Given the description of an element on the screen output the (x, y) to click on. 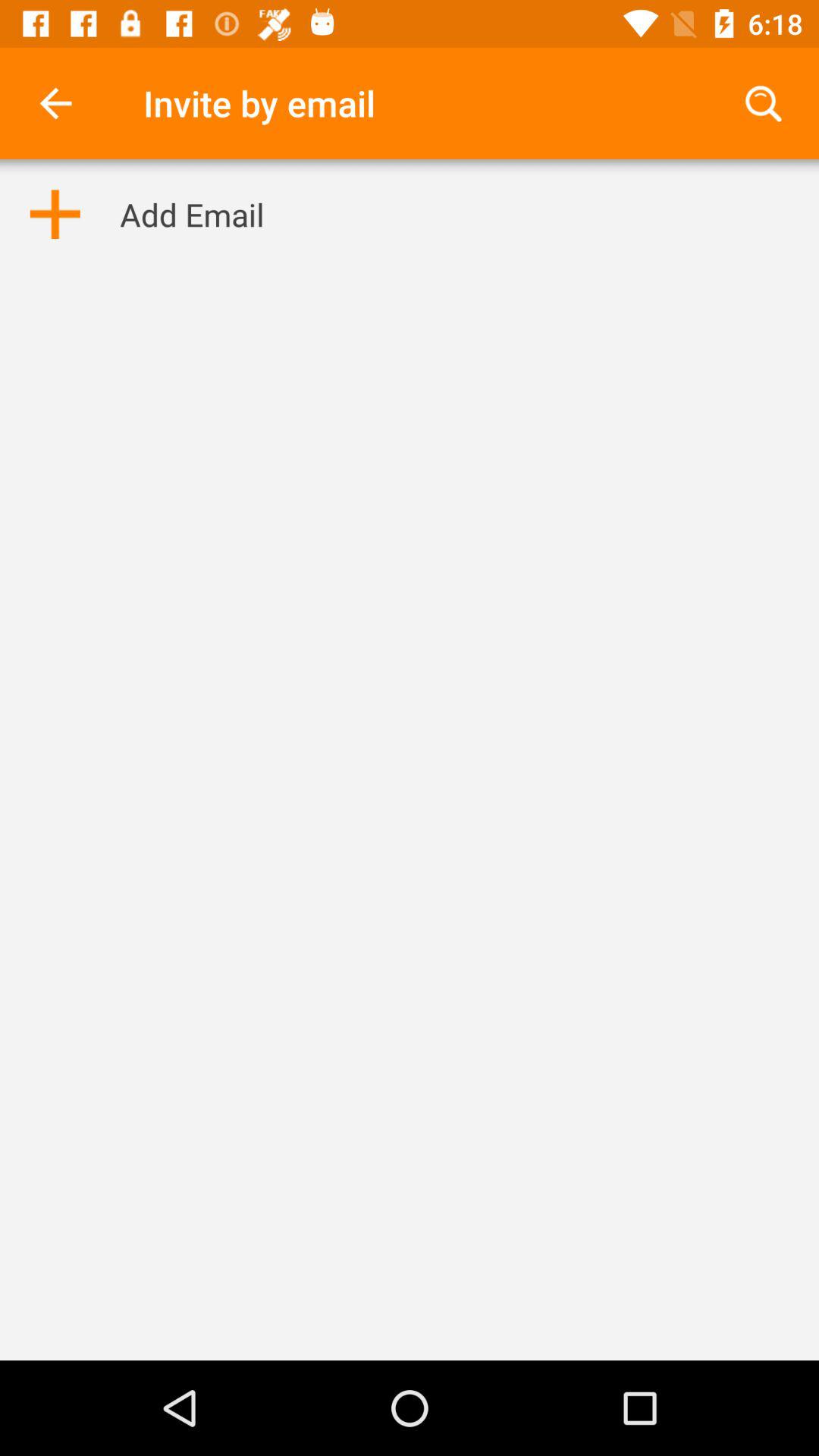
tap the item at the top right corner (763, 103)
